Given the description of an element on the screen output the (x, y) to click on. 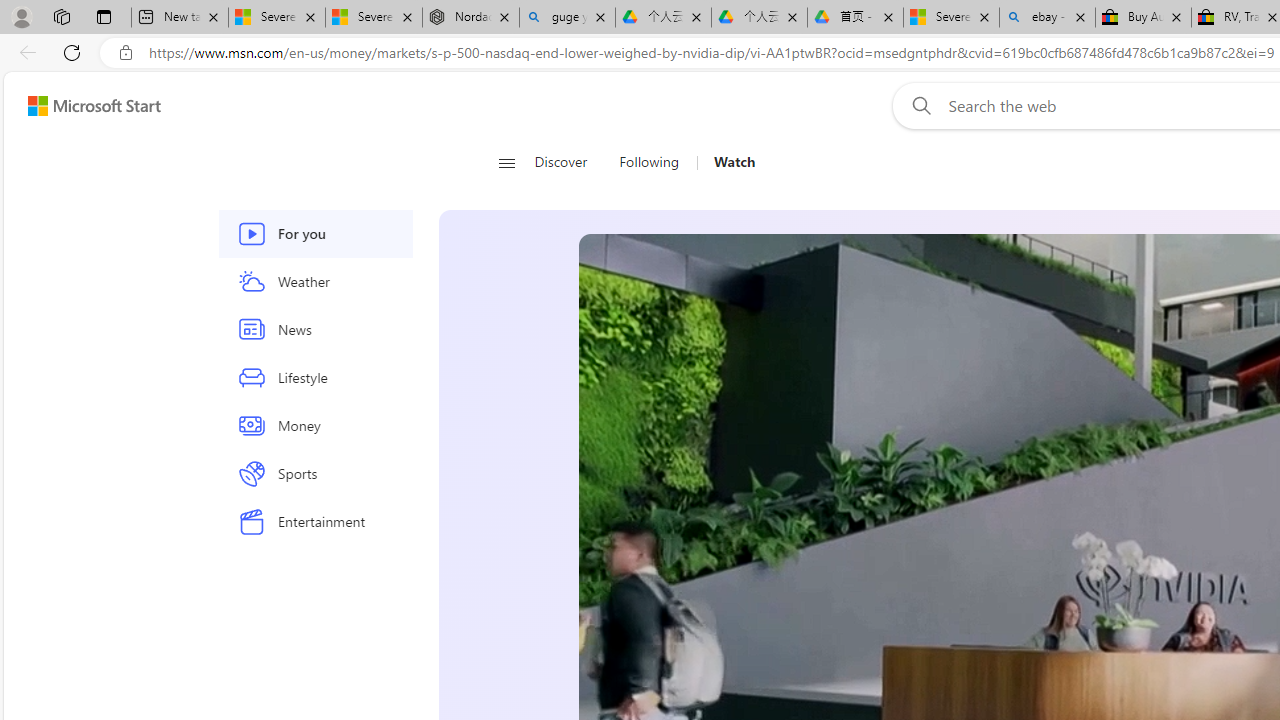
Web search (917, 105)
Skip to footer (82, 105)
Open navigation menu (506, 162)
